Given the description of an element on the screen output the (x, y) to click on. 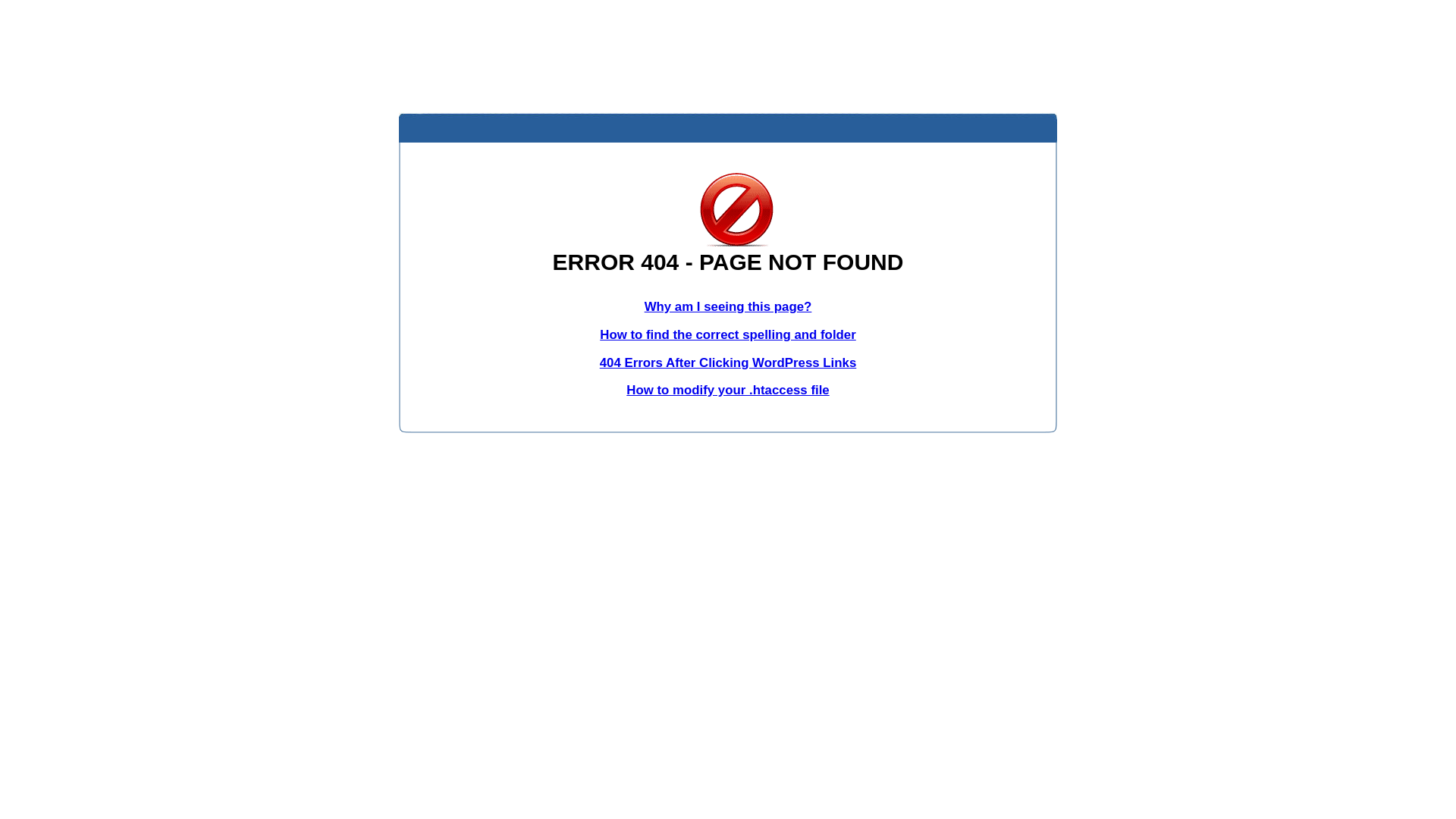
404 Errors After Clicking WordPress Links Element type: text (727, 362)
How to find the correct spelling and folder Element type: text (727, 334)
How to modify your .htaccess file Element type: text (727, 389)
Why am I seeing this page? Element type: text (728, 306)
